Given the description of an element on the screen output the (x, y) to click on. 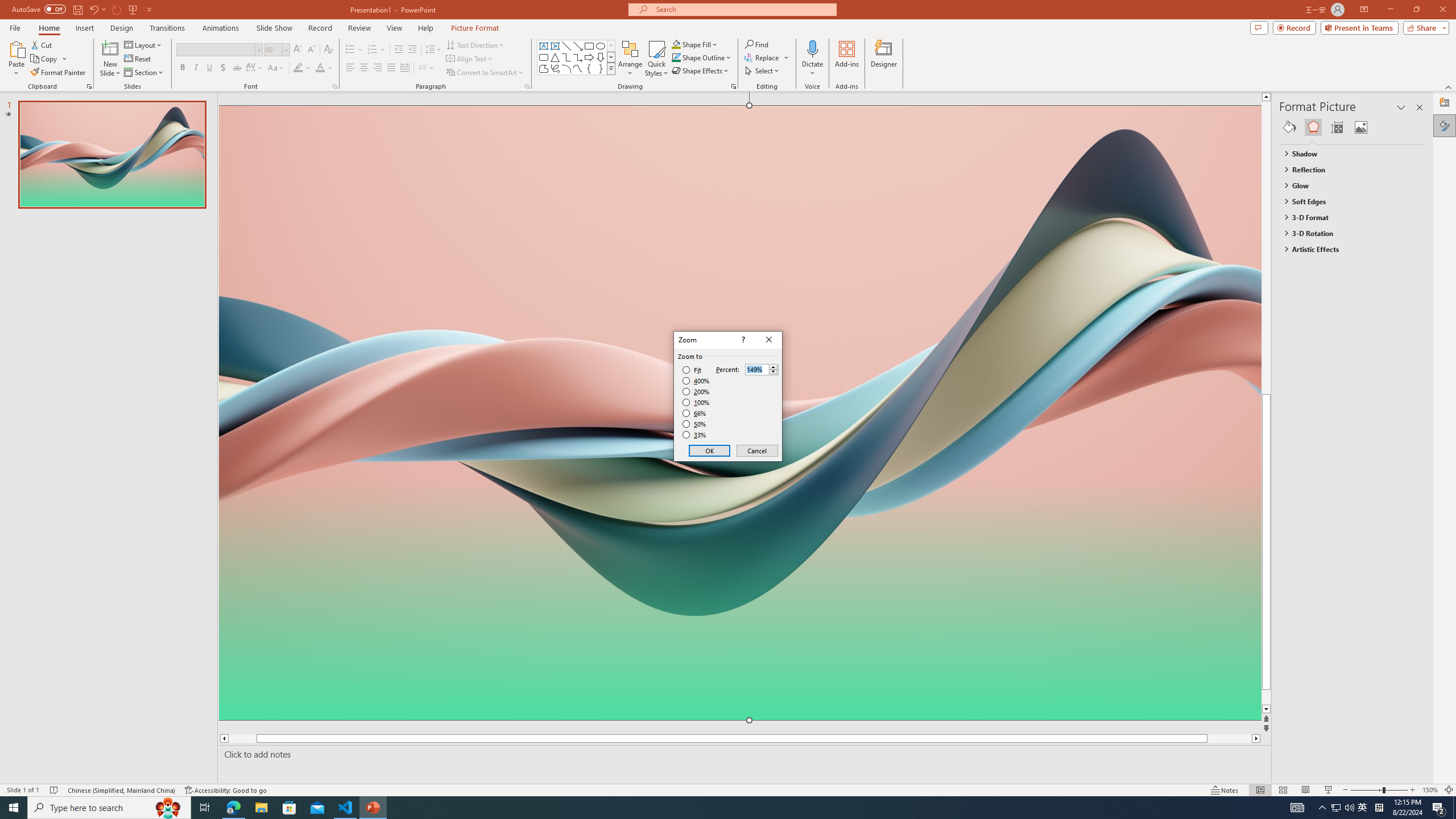
3-D Rotation (1347, 232)
